Given the description of an element on the screen output the (x, y) to click on. 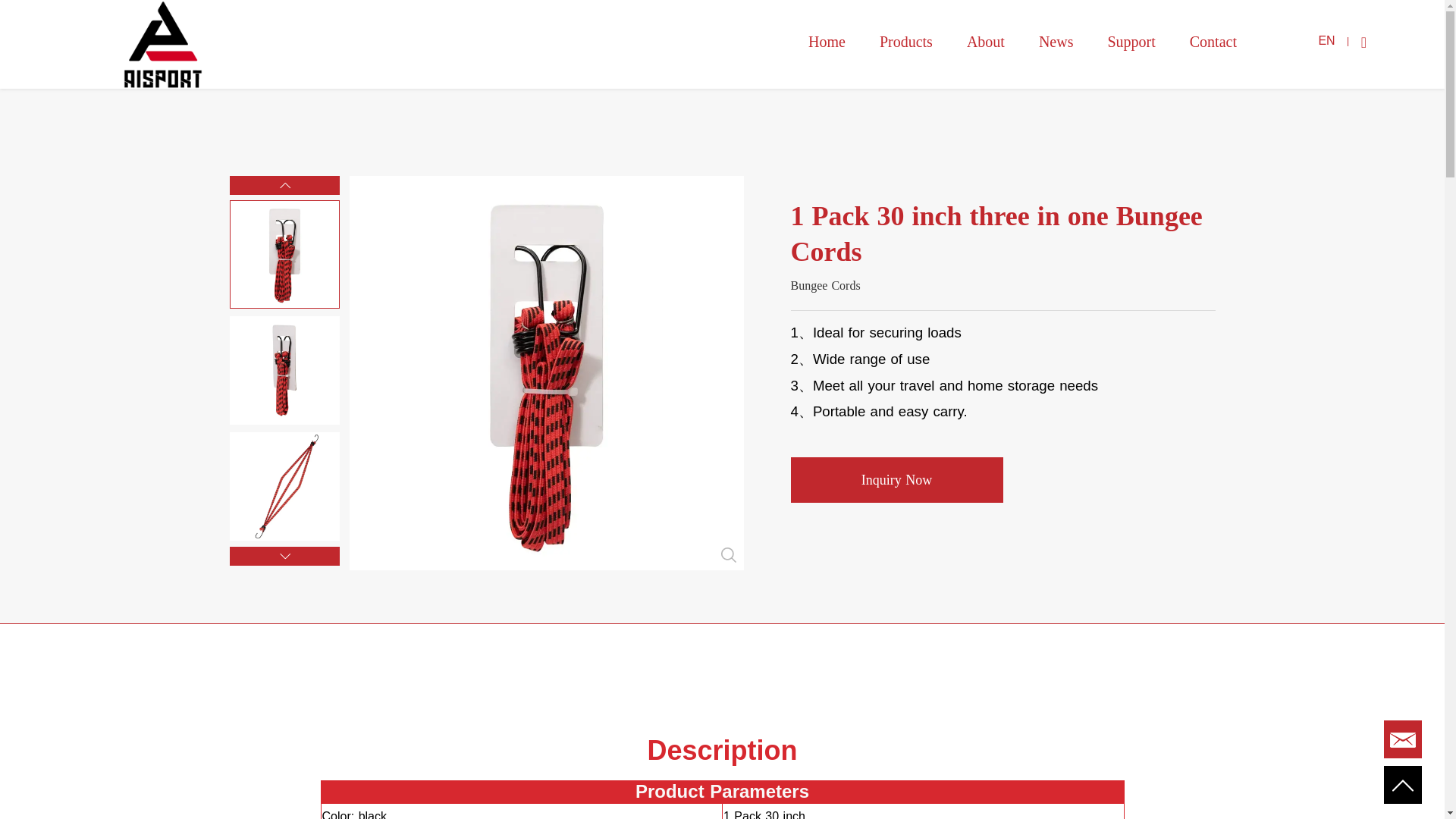
Contact (1212, 41)
Support (1130, 41)
Home (826, 41)
About (985, 41)
form (1402, 739)
form (1402, 785)
Products (906, 41)
News (1056, 41)
